Given the description of an element on the screen output the (x, y) to click on. 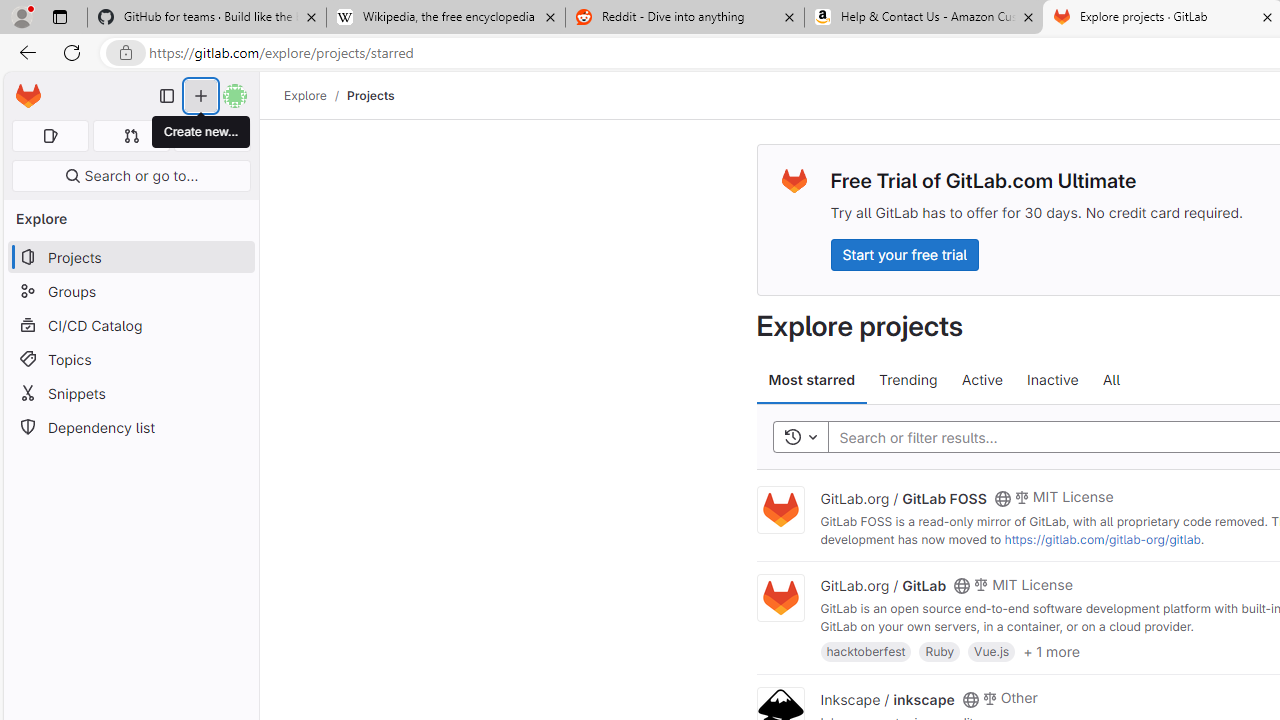
Create new... (201, 131)
Class: s14 gl-mr-2 (989, 696)
Ruby (940, 650)
+ 1 more (1051, 650)
Start your free trial (904, 254)
Active (982, 379)
Merge requests 0 (131, 136)
Explore (305, 95)
Snippets (130, 393)
Projects (370, 95)
Wikipedia, the free encyclopedia (445, 17)
Most starred (811, 379)
CI/CD Catalog (130, 325)
Inkscape / inkscape (887, 698)
